Given the description of an element on the screen output the (x, y) to click on. 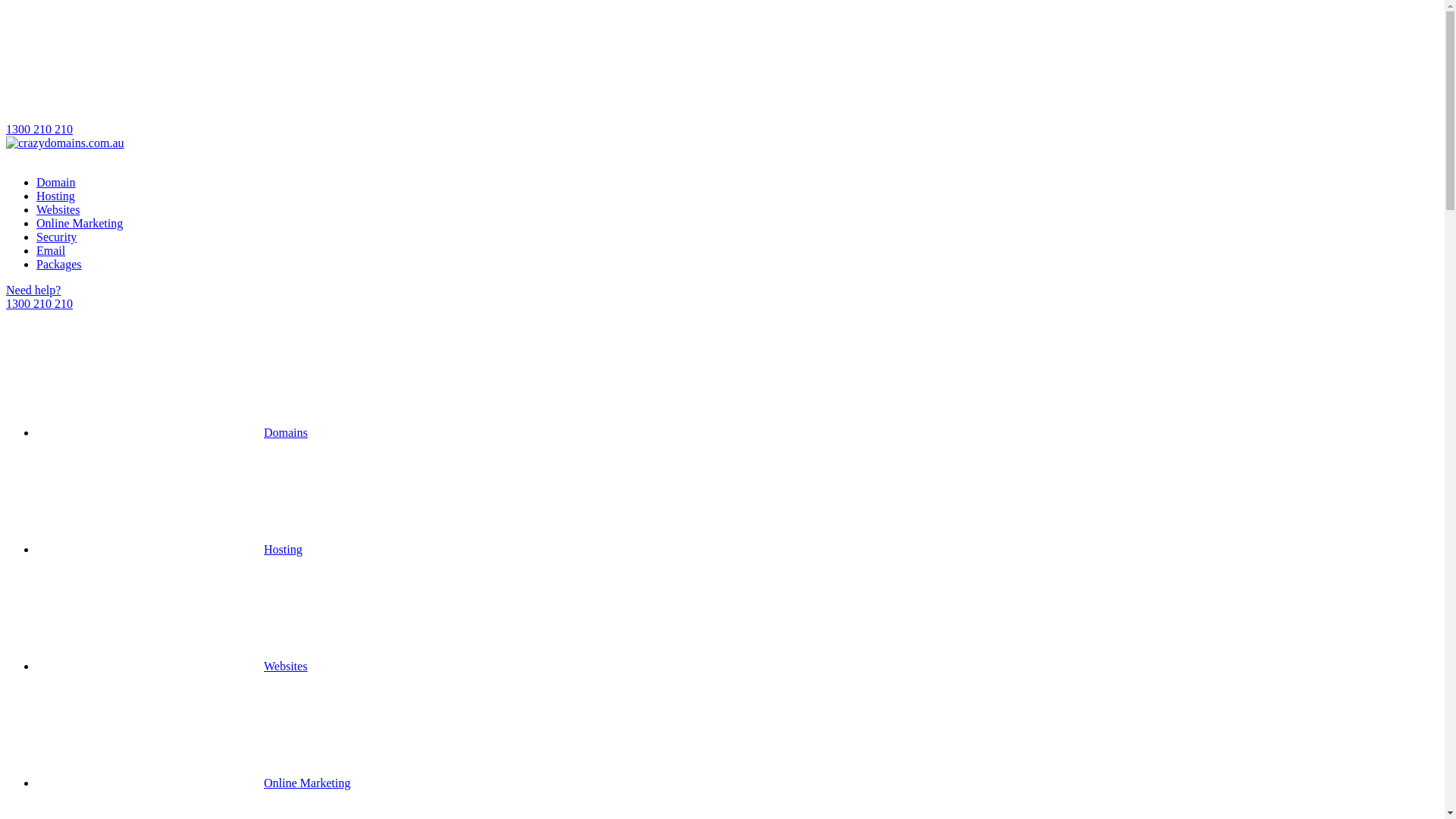
Hosting Element type: text (169, 548)
1300 210 210 Element type: text (722, 70)
Domains Element type: text (171, 432)
Websites Element type: text (57, 209)
Packages Element type: text (58, 263)
Websites Element type: text (171, 665)
Email Element type: text (50, 250)
Need help?
1300 210 210 Element type: text (722, 296)
Hosting Element type: text (55, 195)
Domain Element type: text (55, 181)
Online Marketing Element type: text (79, 222)
Online Marketing Element type: text (193, 782)
Security Element type: text (56, 236)
